Given the description of an element on the screen output the (x, y) to click on. 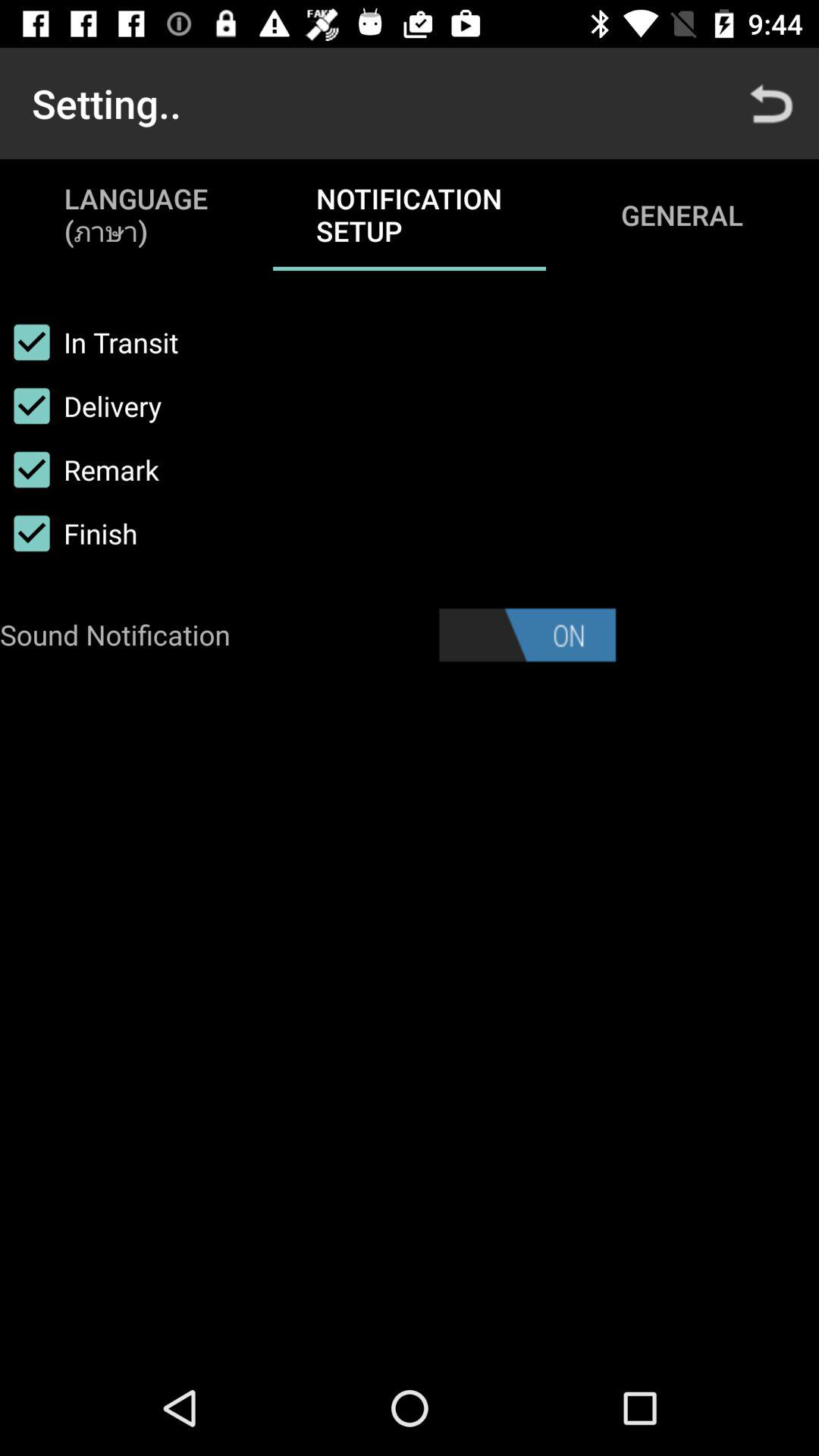
launch icon above the remark item (80, 405)
